Given the description of an element on the screen output the (x, y) to click on. 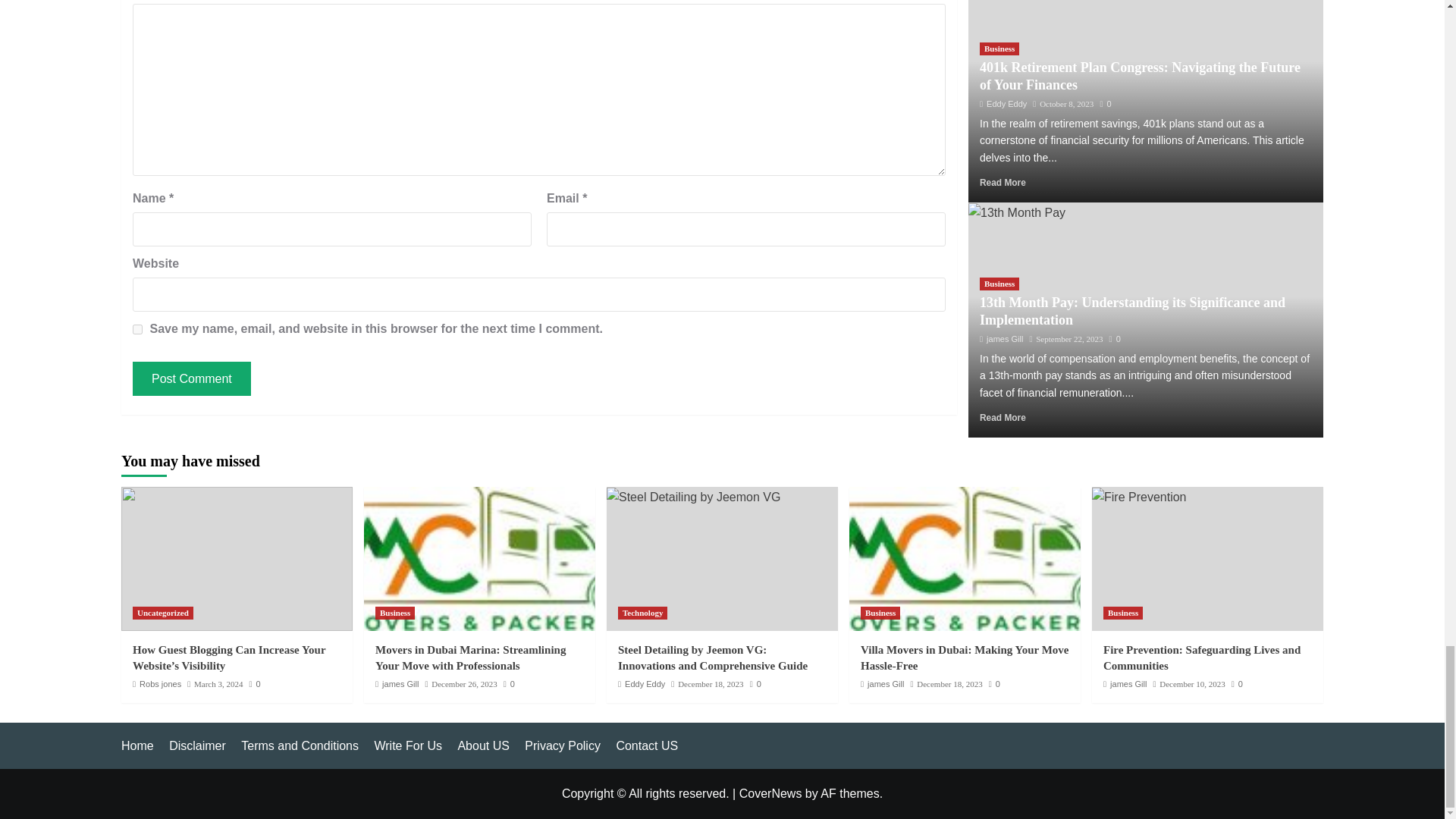
Post Comment (191, 378)
yes (137, 329)
